Given the description of an element on the screen output the (x, y) to click on. 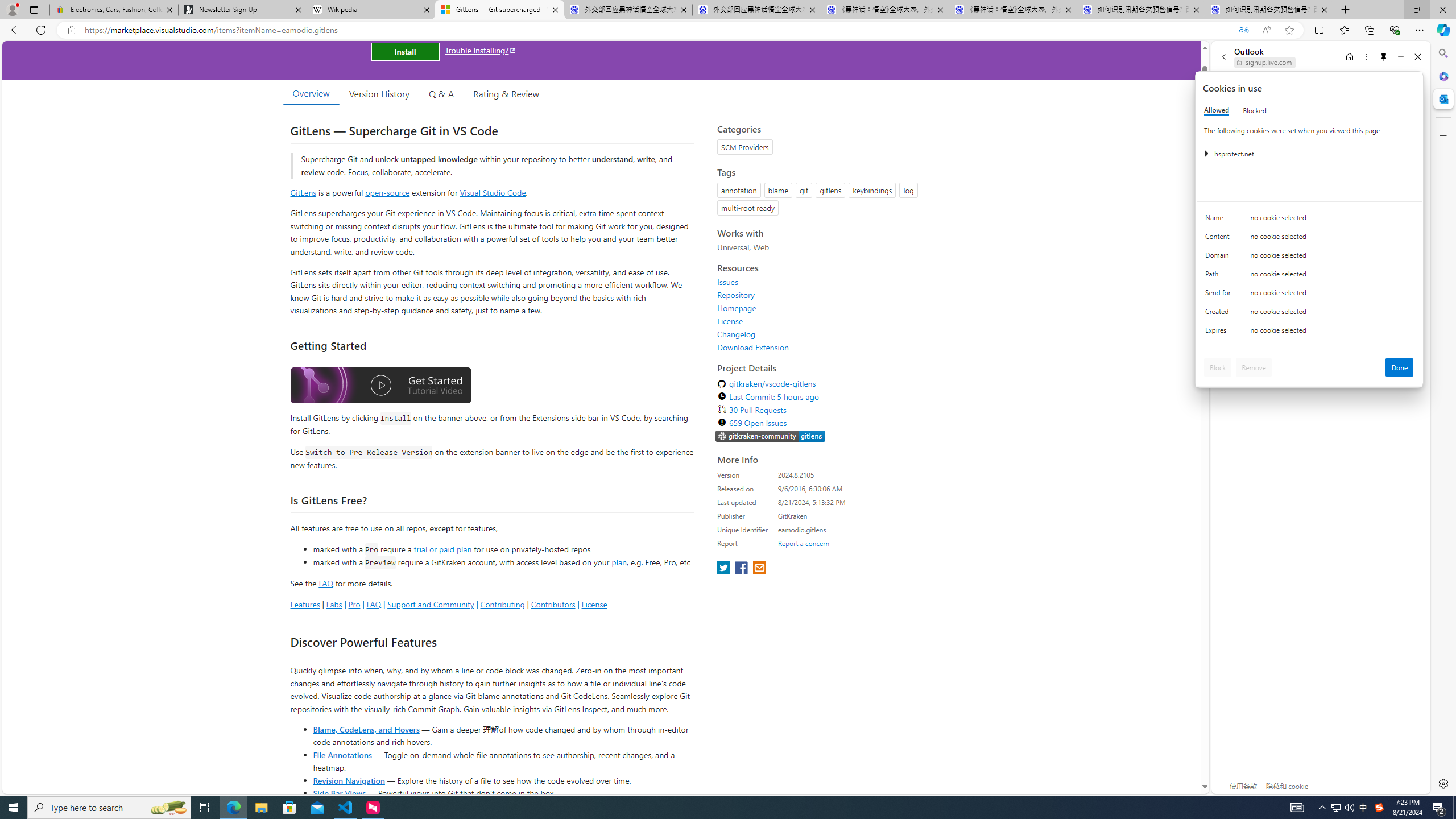
Content (1219, 239)
Name (1219, 220)
Send for (1219, 295)
Block (1217, 367)
Allowed (1216, 110)
Class: c0153 c0157 (1309, 332)
Path (1219, 276)
Created (1219, 313)
Done (1399, 367)
Remove (1253, 367)
no cookie selected (1331, 332)
Expires (1219, 332)
Domain (1219, 257)
Blocked (1255, 110)
Class: c0153 c0157 c0154 (1309, 220)
